Given the description of an element on the screen output the (x, y) to click on. 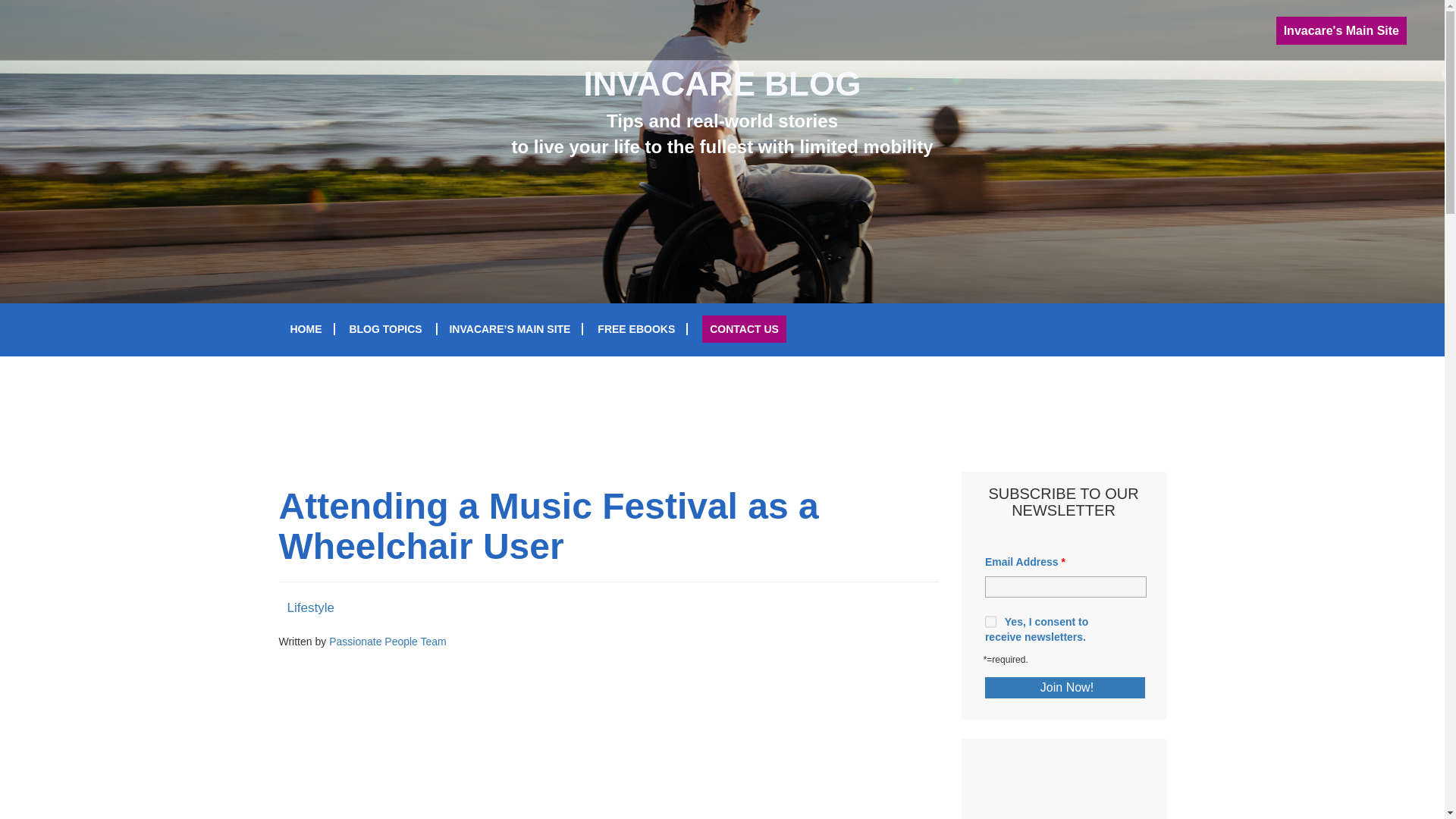
BLOG TOPICS (385, 328)
on (990, 621)
Posts by Passionate People Team (387, 641)
HOME (305, 328)
Passionate People Team (387, 641)
Join Now! (1064, 687)
FREE EBOOKS (635, 328)
Lifestyle (309, 607)
INVACARE BLOG (722, 83)
CTA - Sidebar - BOFU (1064, 785)
